Given the description of an element on the screen output the (x, y) to click on. 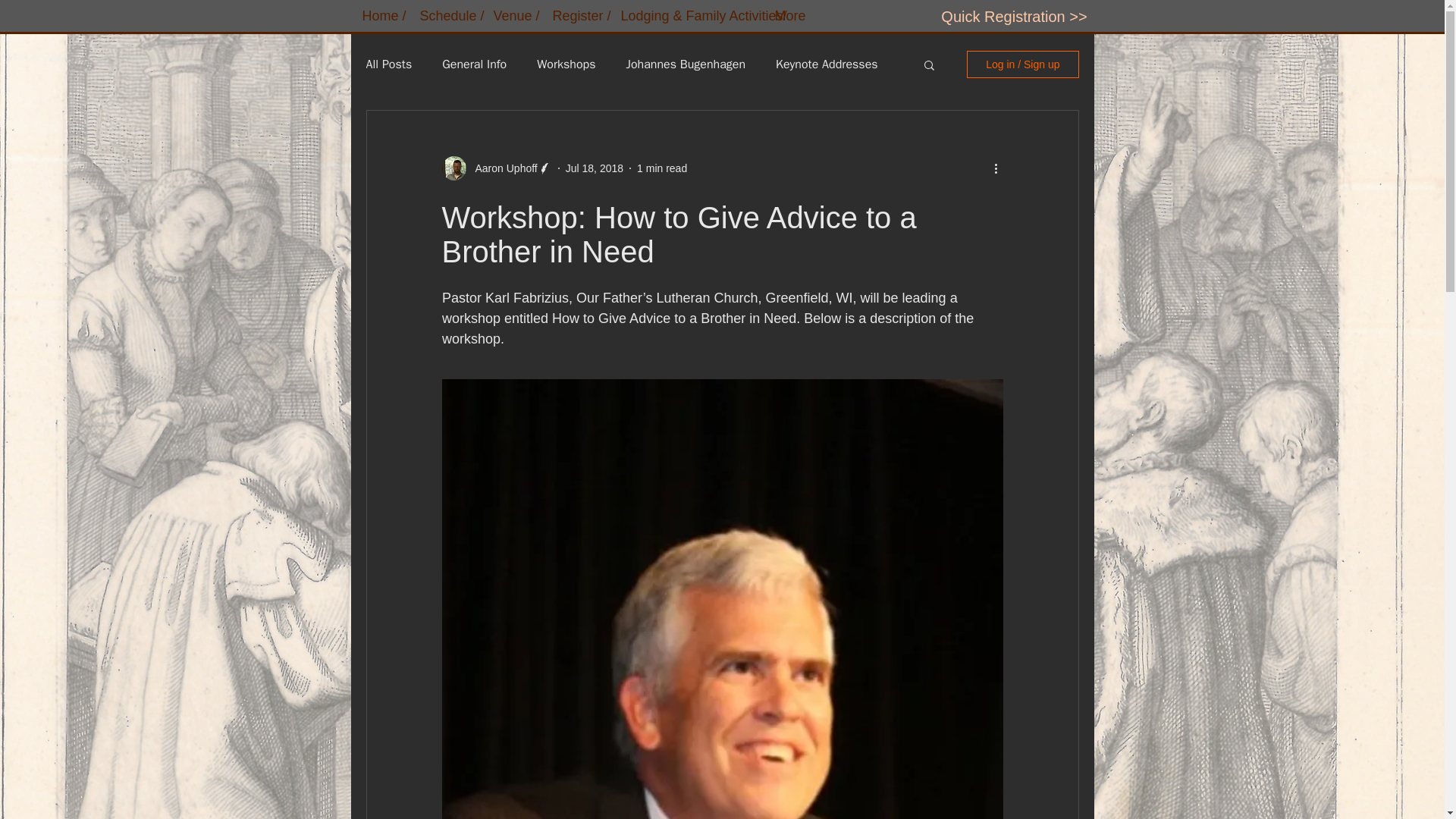
Johannes Bugenhagen (685, 64)
Workshops (566, 64)
General Info (474, 64)
Keynote Addresses (826, 64)
Aaron Uphoff (501, 168)
Jul 18, 2018 (594, 168)
All Posts (388, 64)
1 min read (662, 168)
